Given the description of an element on the screen output the (x, y) to click on. 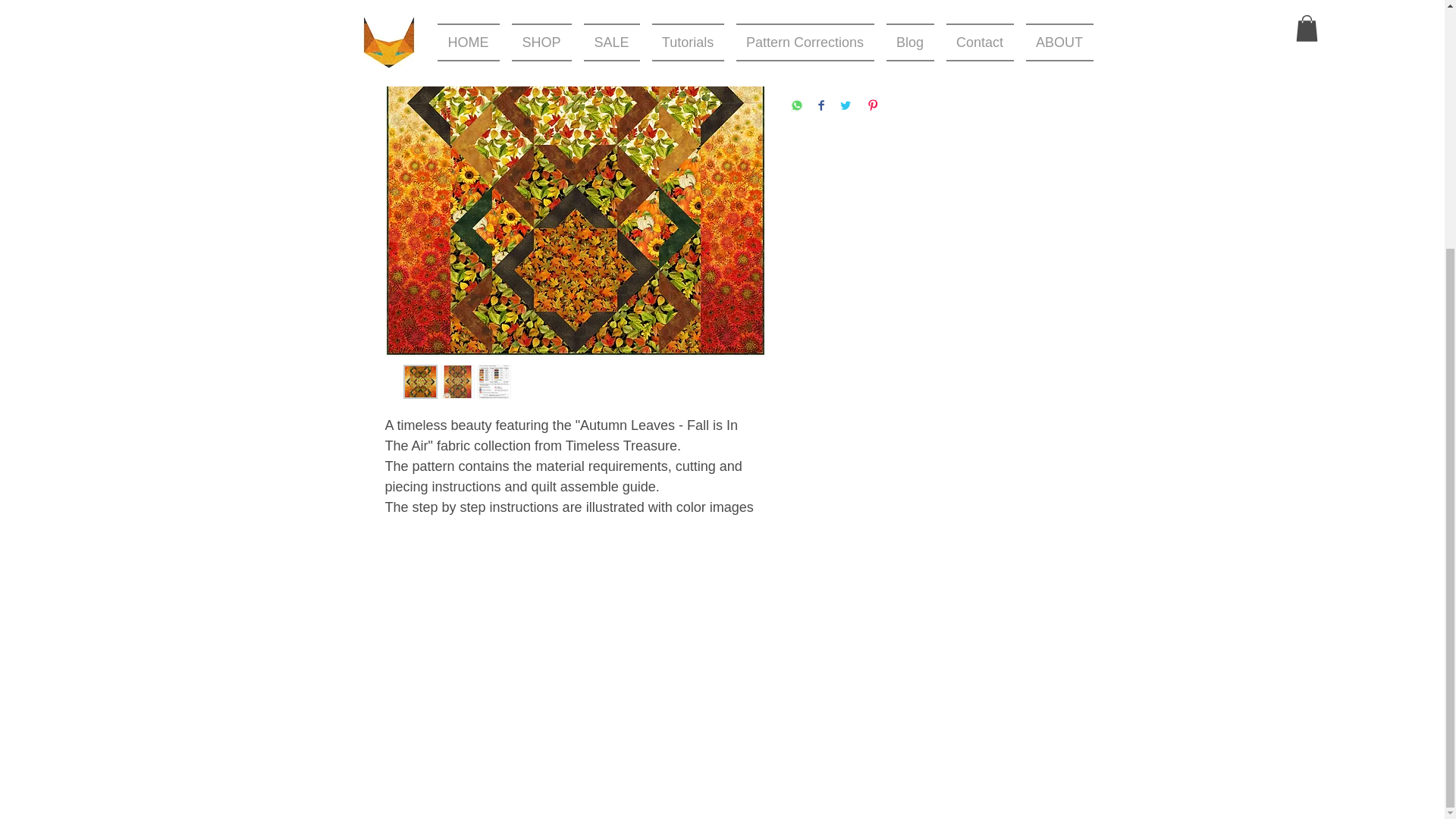
1 (823, 3)
Add To Cart (924, 48)
